Given the description of an element on the screen output the (x, y) to click on. 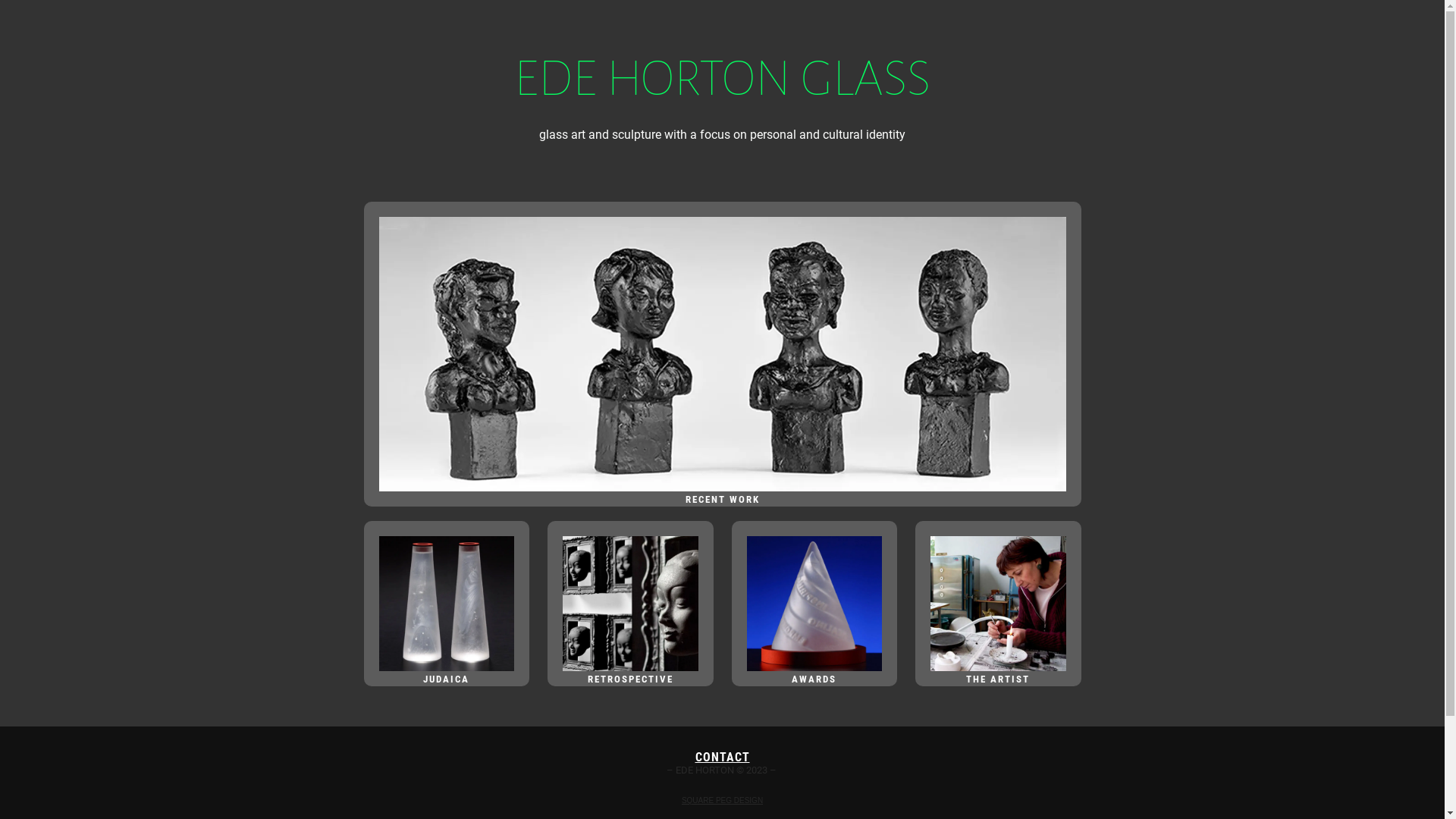
CONTACT Element type: text (721, 756)
SQUARE PEG DESIGN Element type: text (721, 800)
